Given the description of an element on the screen output the (x, y) to click on. 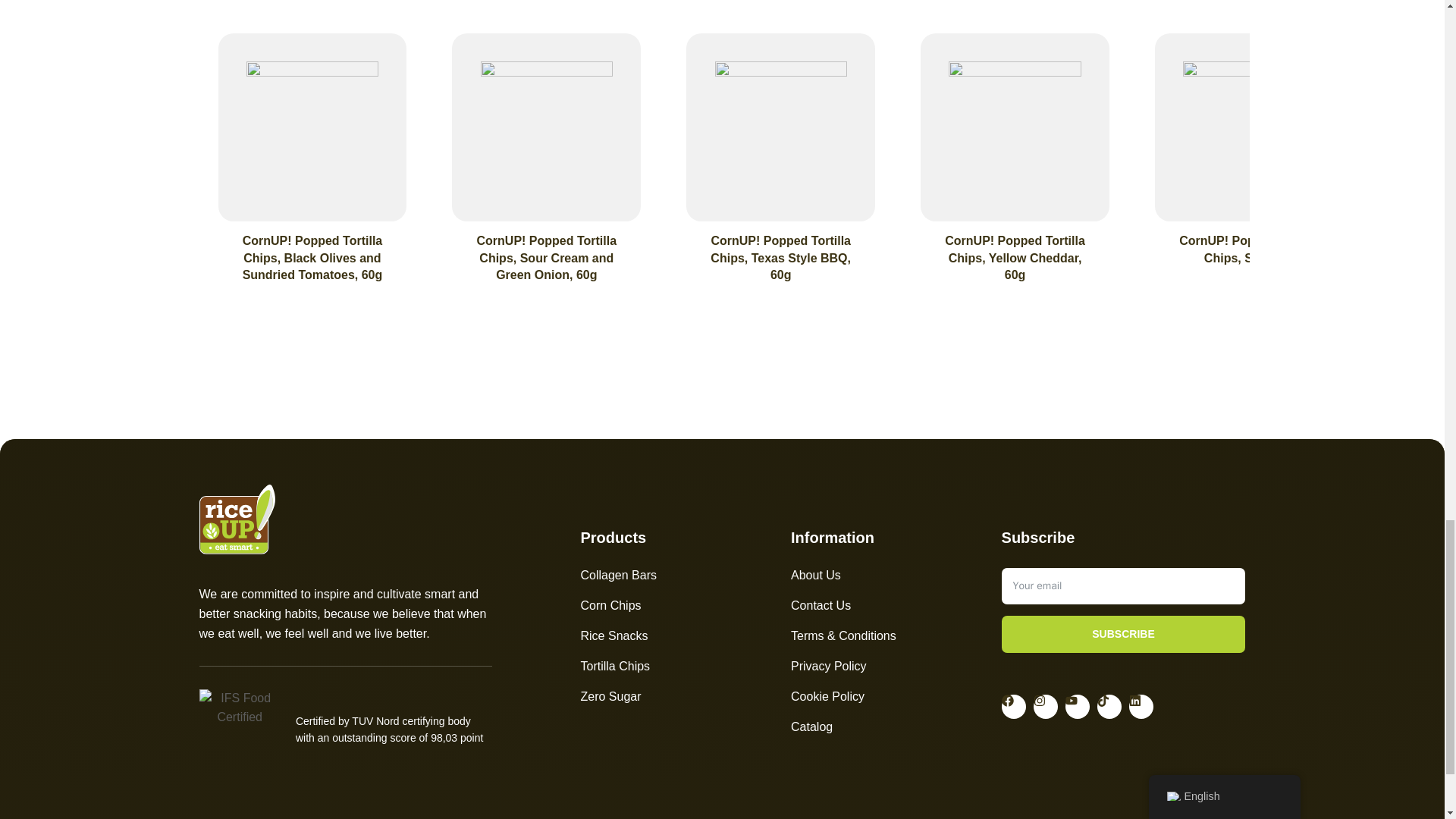
CornUP! Popped Tortilla Chips, Salt, 60g (1249, 248)
CornUP! Popped Tortilla Chips, Yellow Cheddar, 60g (1014, 257)
CornUP! Popped Tortilla Chips, Texas Style BBQ, 60g (780, 257)
